Given the description of an element on the screen output the (x, y) to click on. 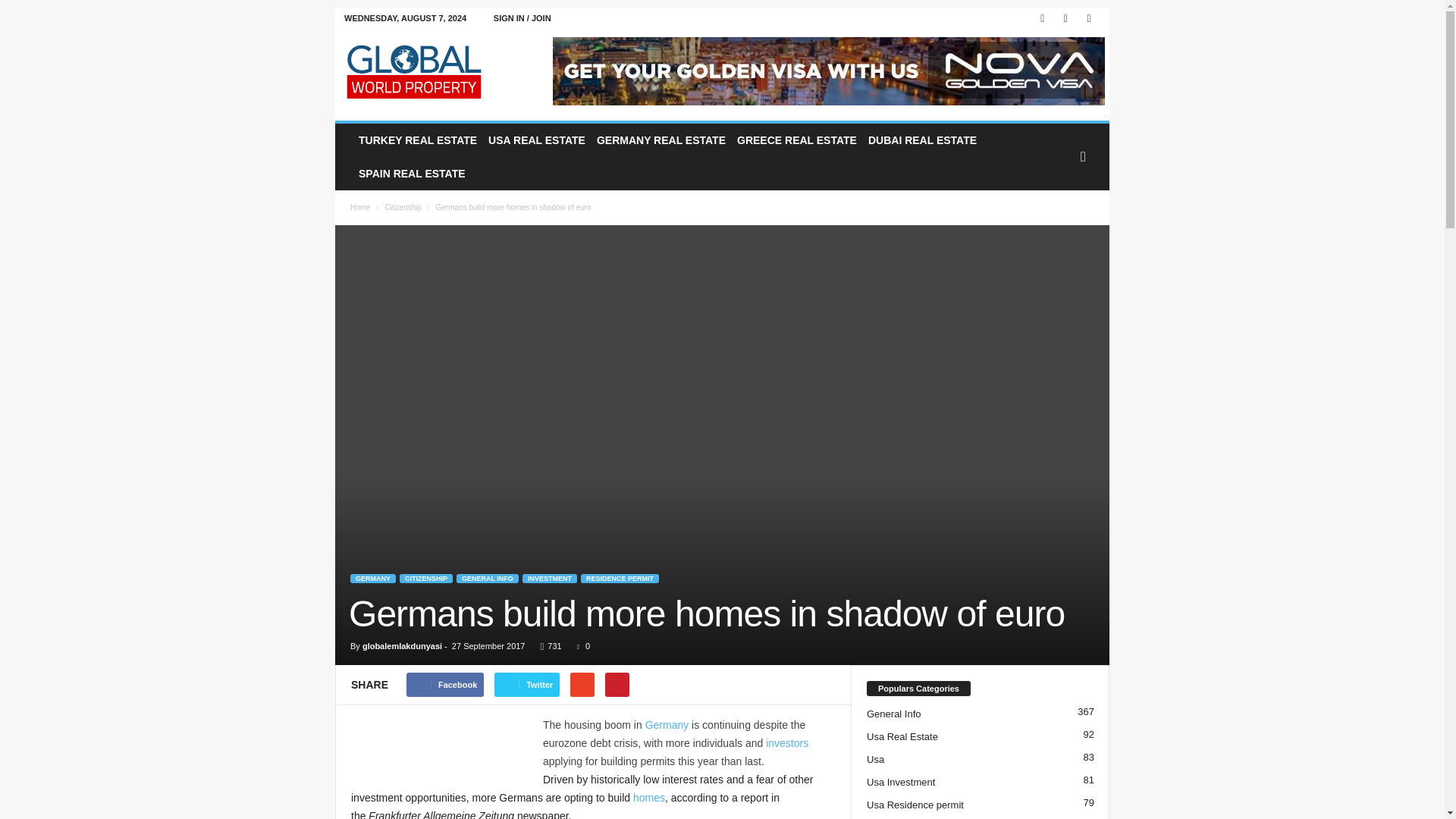
View all posts in Citizenship (403, 207)
USA REAL ESTATE (534, 140)
Citizenship (403, 207)
GREECE REAL ESTATE (794, 140)
DUBAI REAL ESTATE (919, 140)
TURKEY REAL ESTATE (415, 140)
GERMANY (373, 578)
GERMANY REAL ESTATE (659, 140)
SPAIN REAL ESTATE (409, 173)
Home (360, 207)
